Given the description of an element on the screen output the (x, y) to click on. 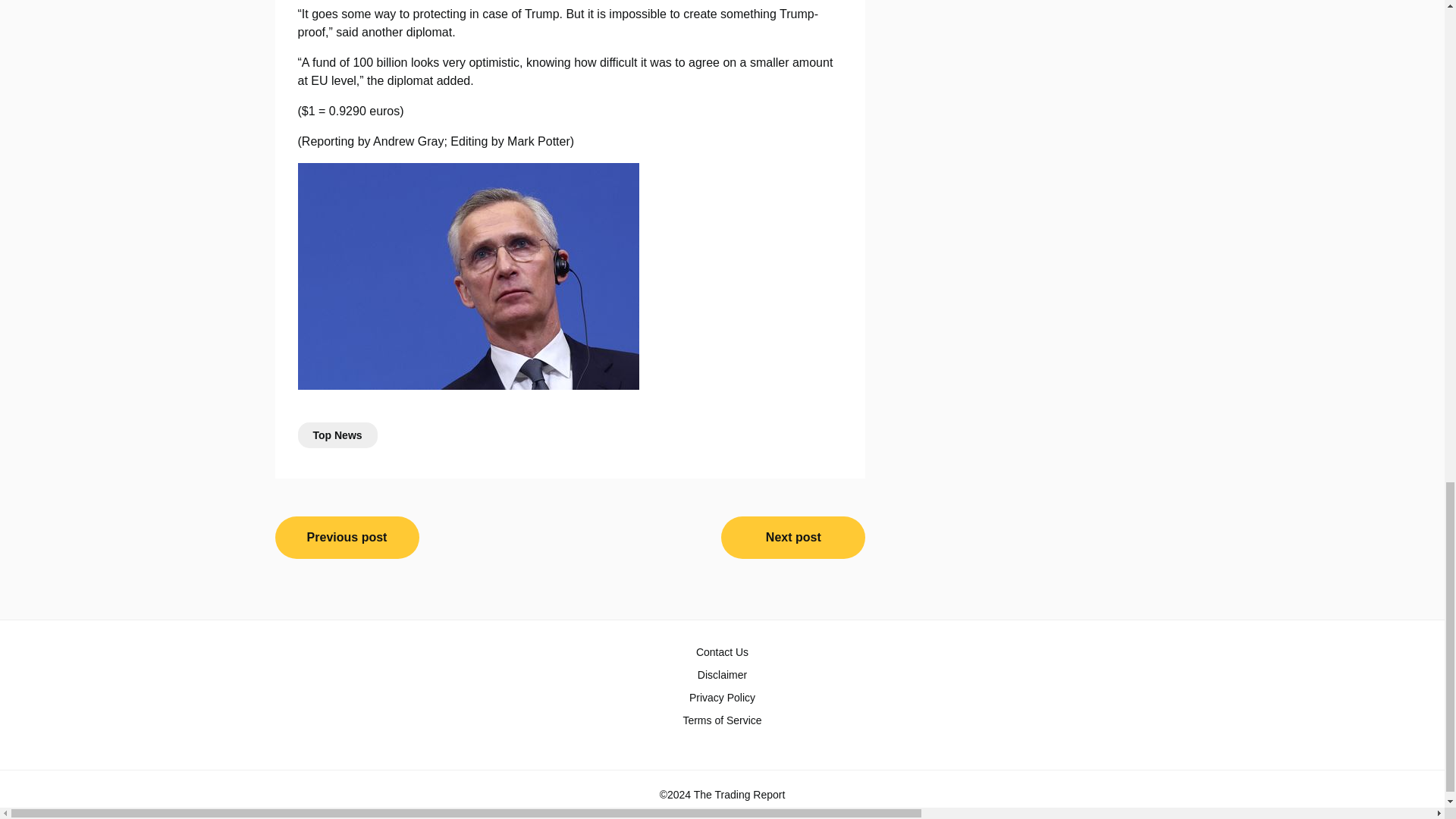
Privacy Policy (721, 697)
Terms of Service (721, 720)
Contact Us (721, 652)
Previous post (347, 537)
Top News (337, 434)
Next post (792, 537)
Disclaimer (721, 674)
